Given the description of an element on the screen output the (x, y) to click on. 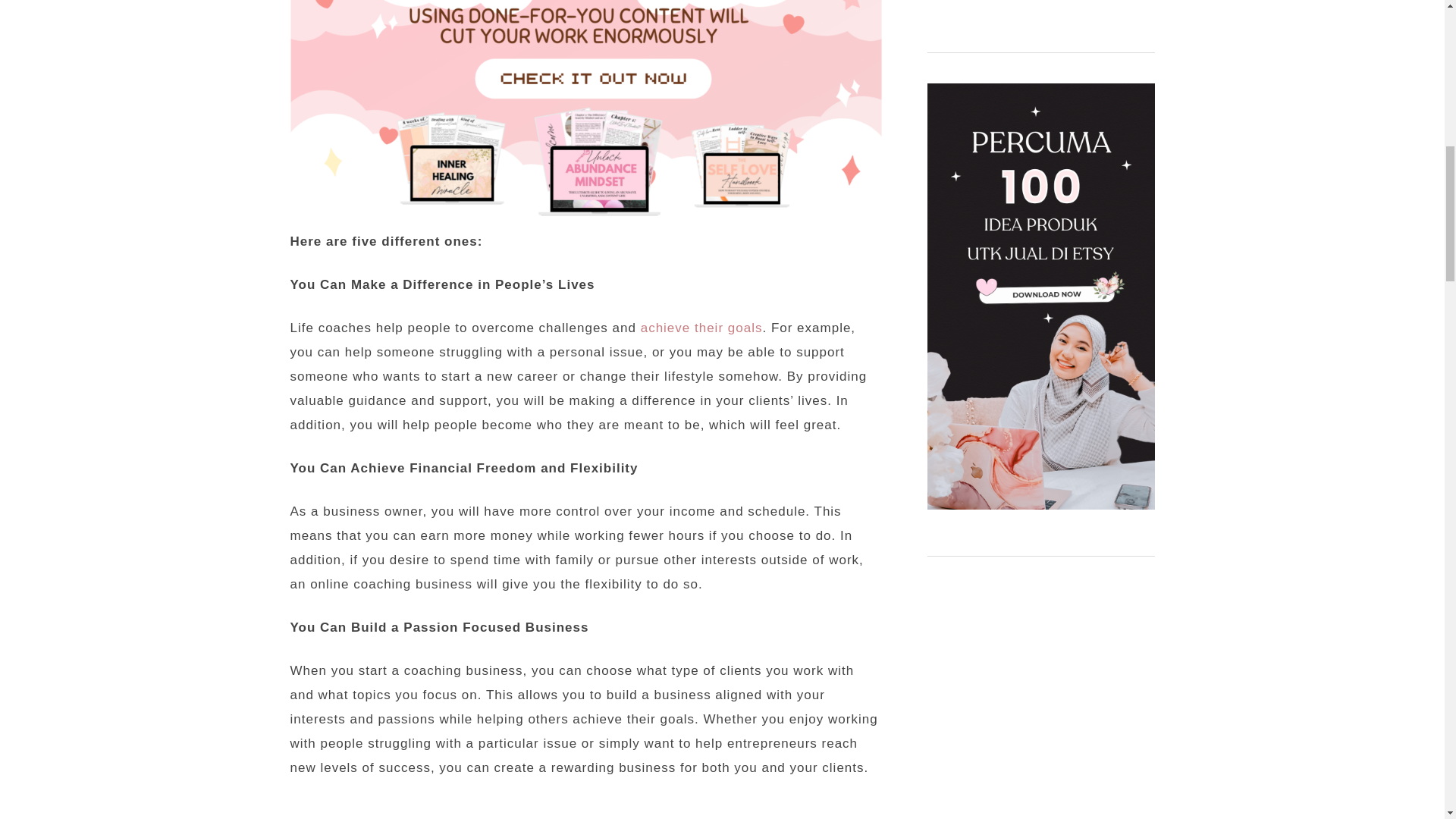
achieve their goals (701, 327)
